Given the description of an element on the screen output the (x, y) to click on. 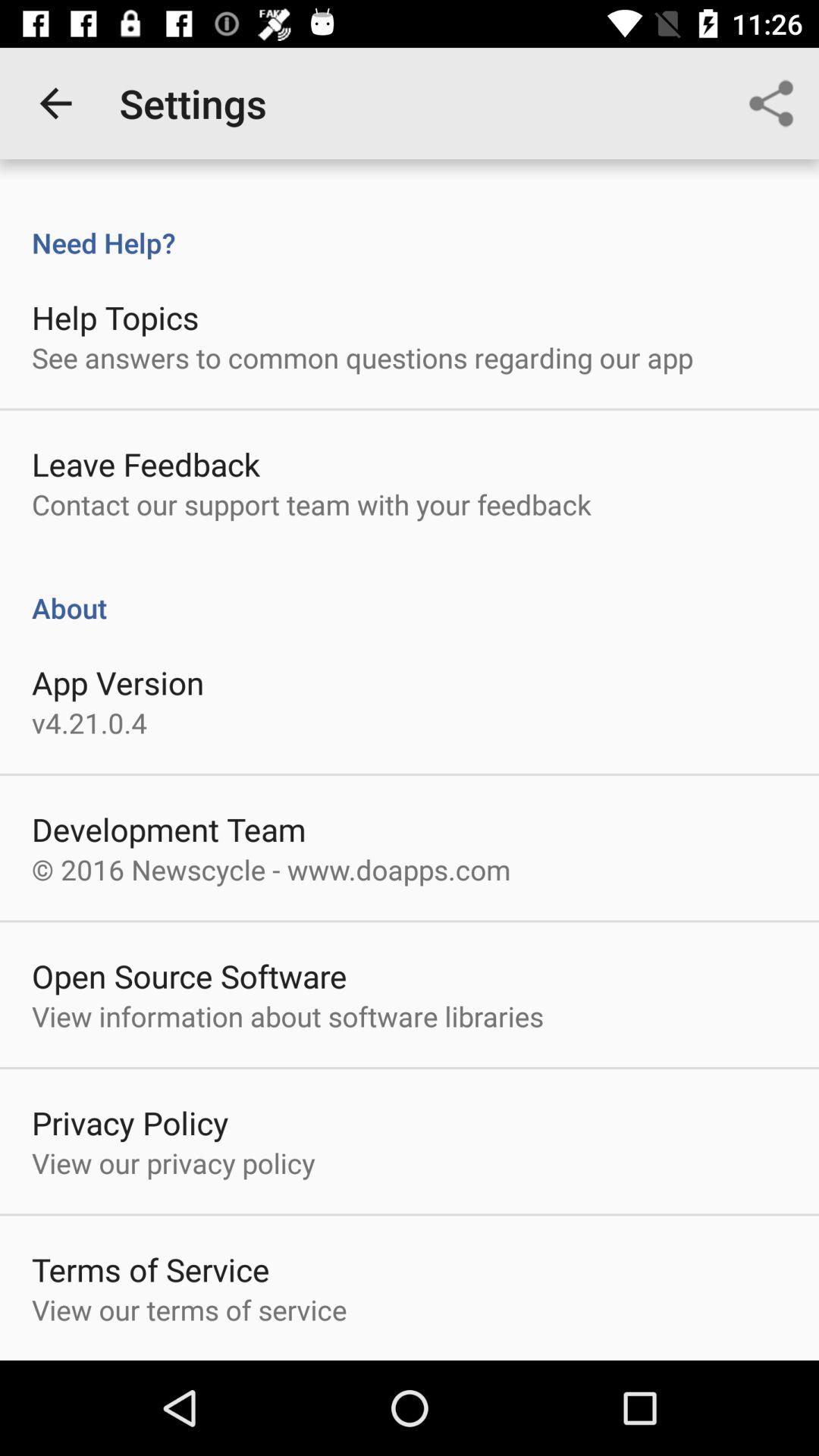
swipe to the app version icon (117, 682)
